Given the description of an element on the screen output the (x, y) to click on. 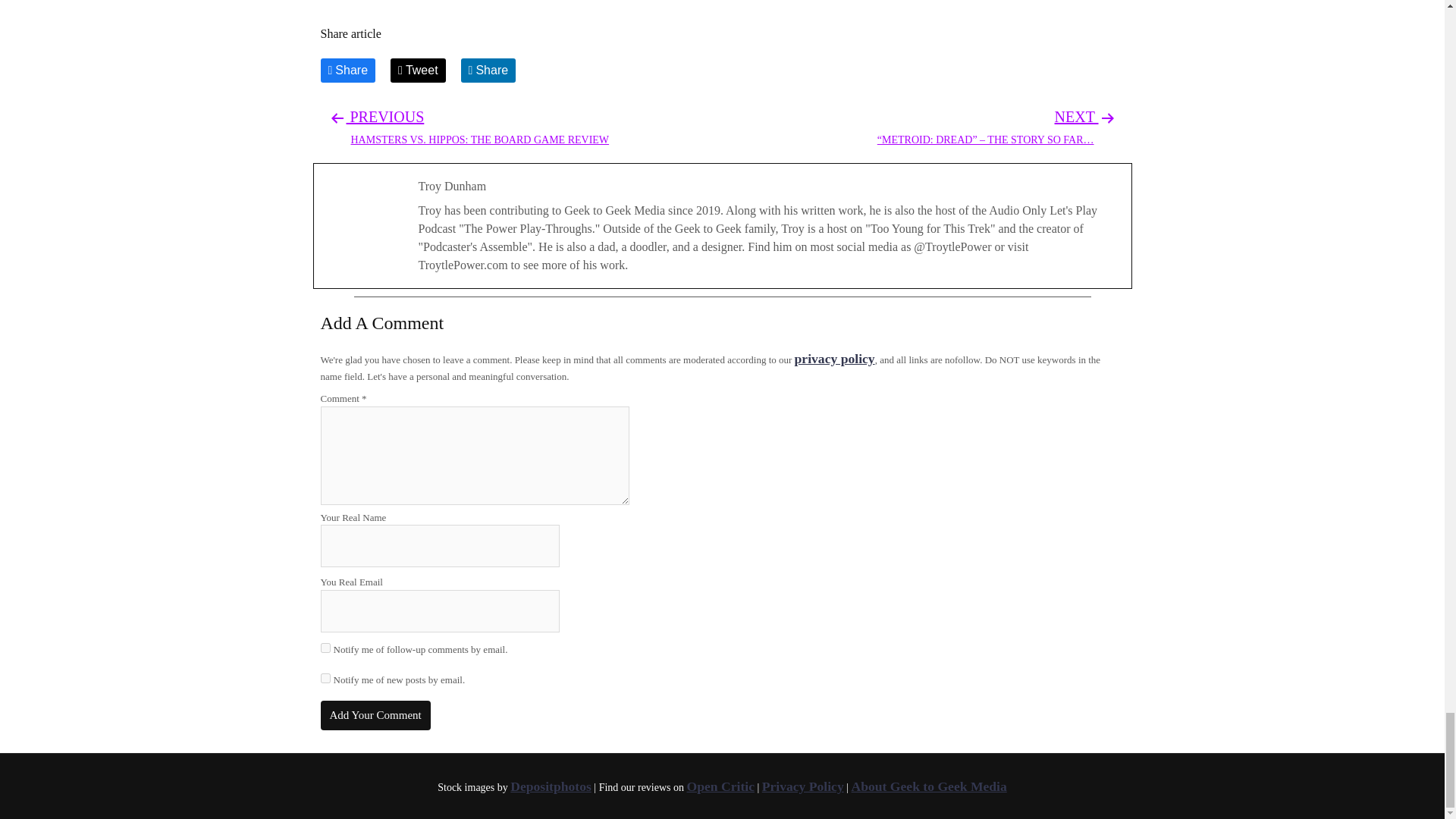
Open Critic (479, 126)
Depositphotos (720, 785)
Add Your Comment (551, 785)
Privacy Policy (374, 715)
Privacy Policy (802, 785)
About Geek to Geek Media (834, 358)
subscribe (929, 785)
Share (325, 647)
Tweet (488, 70)
privacy policy (417, 70)
Share (834, 358)
subscribe (347, 70)
Add Your Comment (325, 678)
